Given the description of an element on the screen output the (x, y) to click on. 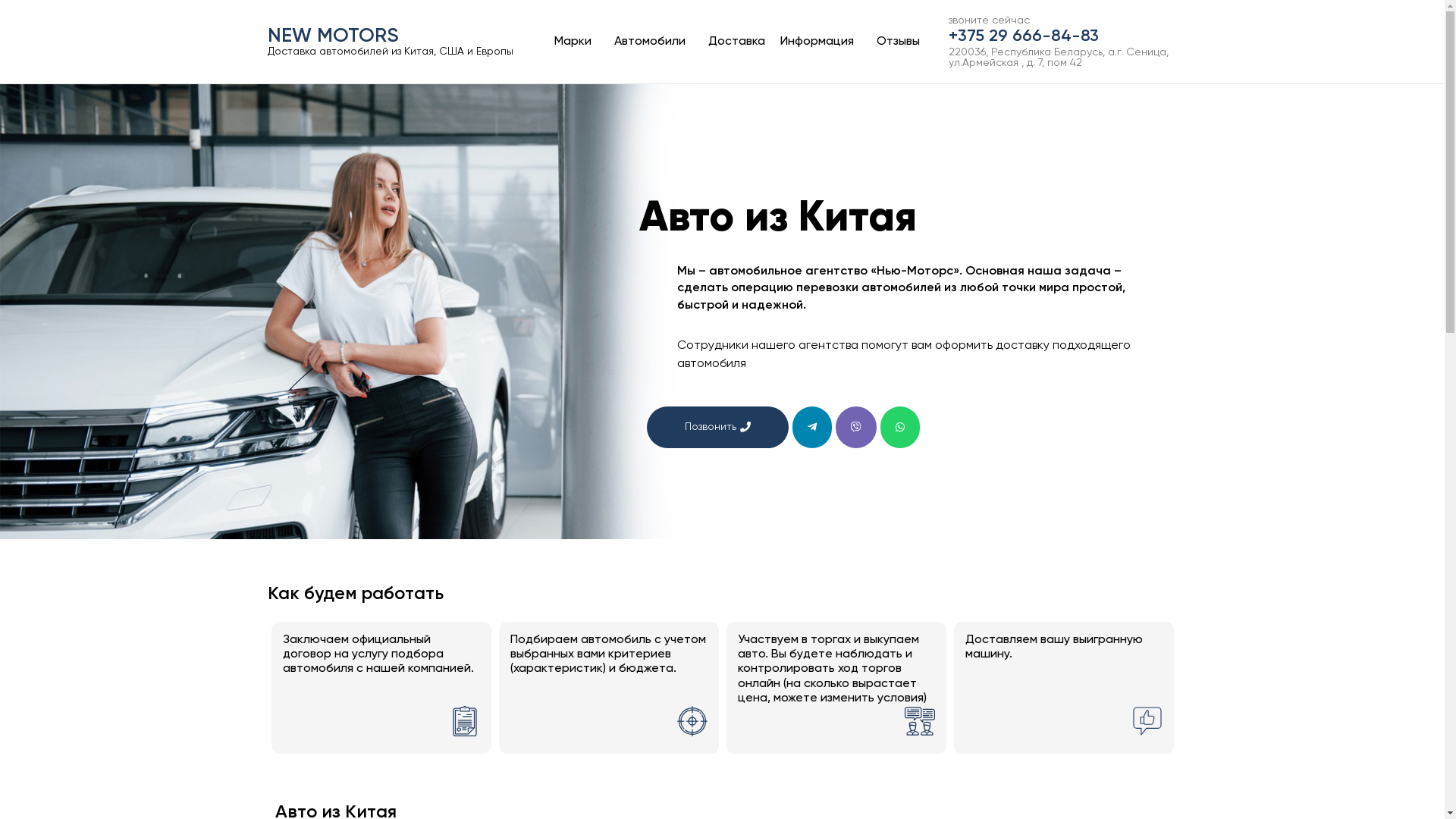
NEW MOTORS Element type: text (332, 36)
+375 29 666-84-83 Element type: text (1023, 36)
